Given the description of an element on the screen output the (x, y) to click on. 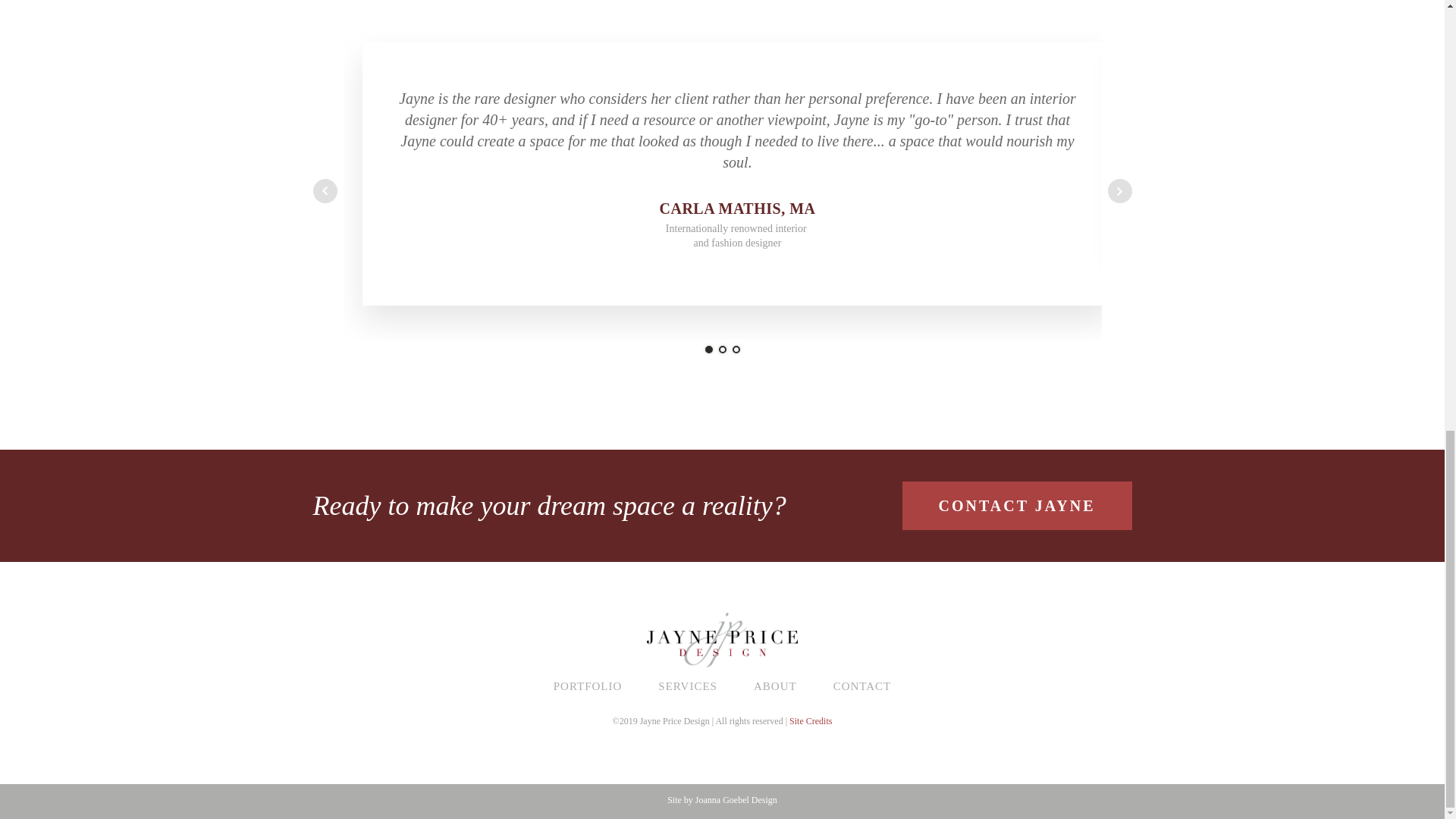
PORTFOLIO (587, 686)
ABOUT (775, 686)
Site Credits (810, 720)
Site by Joanna Goebel Design (722, 800)
Next (1118, 191)
CONTACT JAYNE (1017, 505)
CONTACT (862, 686)
Prev (324, 191)
SERVICES (687, 686)
